Given the description of an element on the screen output the (x, y) to click on. 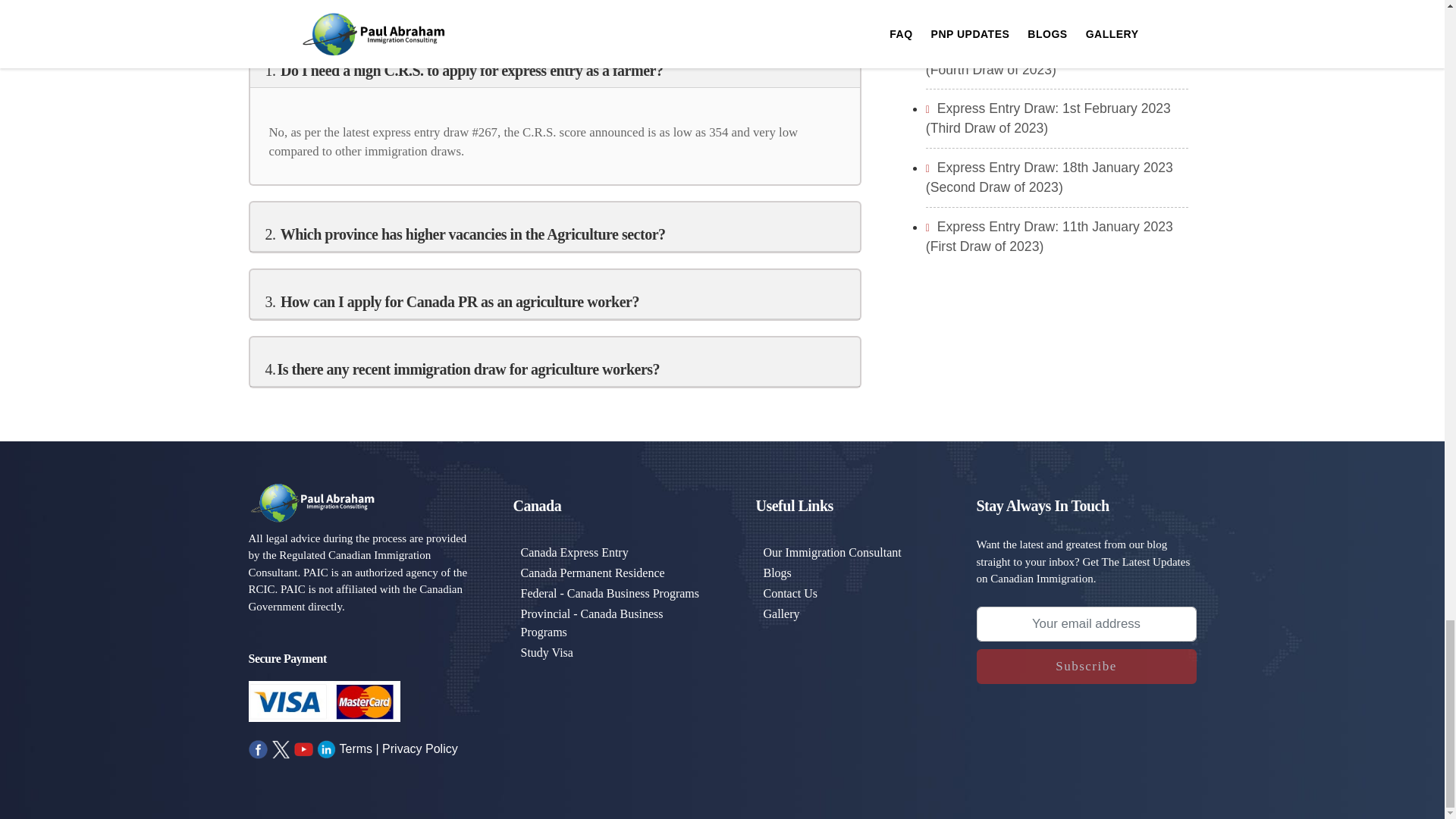
3. How can I apply for Canada PR as an agriculture worker? (451, 301)
